Given the description of an element on the screen output the (x, y) to click on. 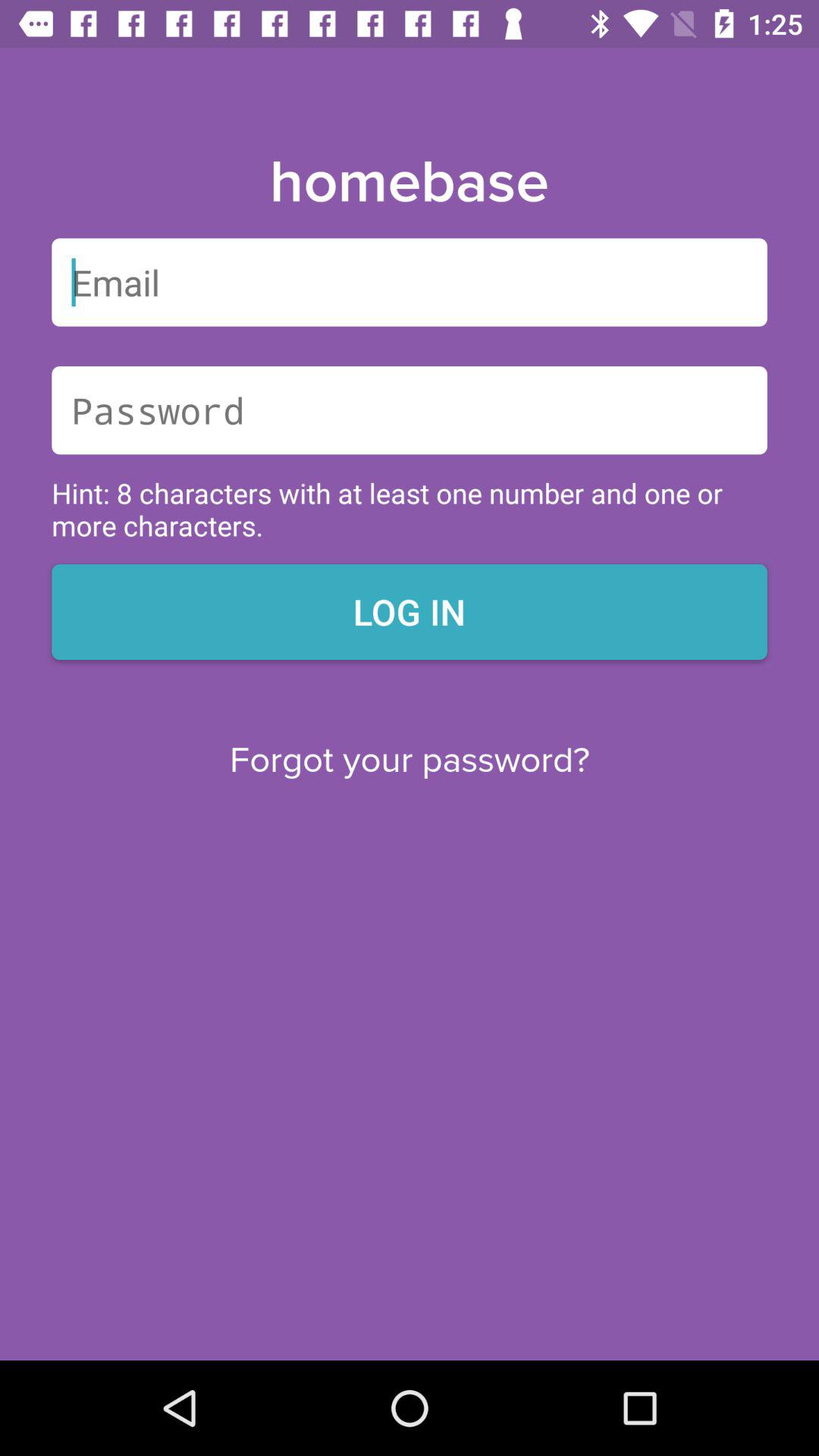
launch log in icon (409, 611)
